Given the description of an element on the screen output the (x, y) to click on. 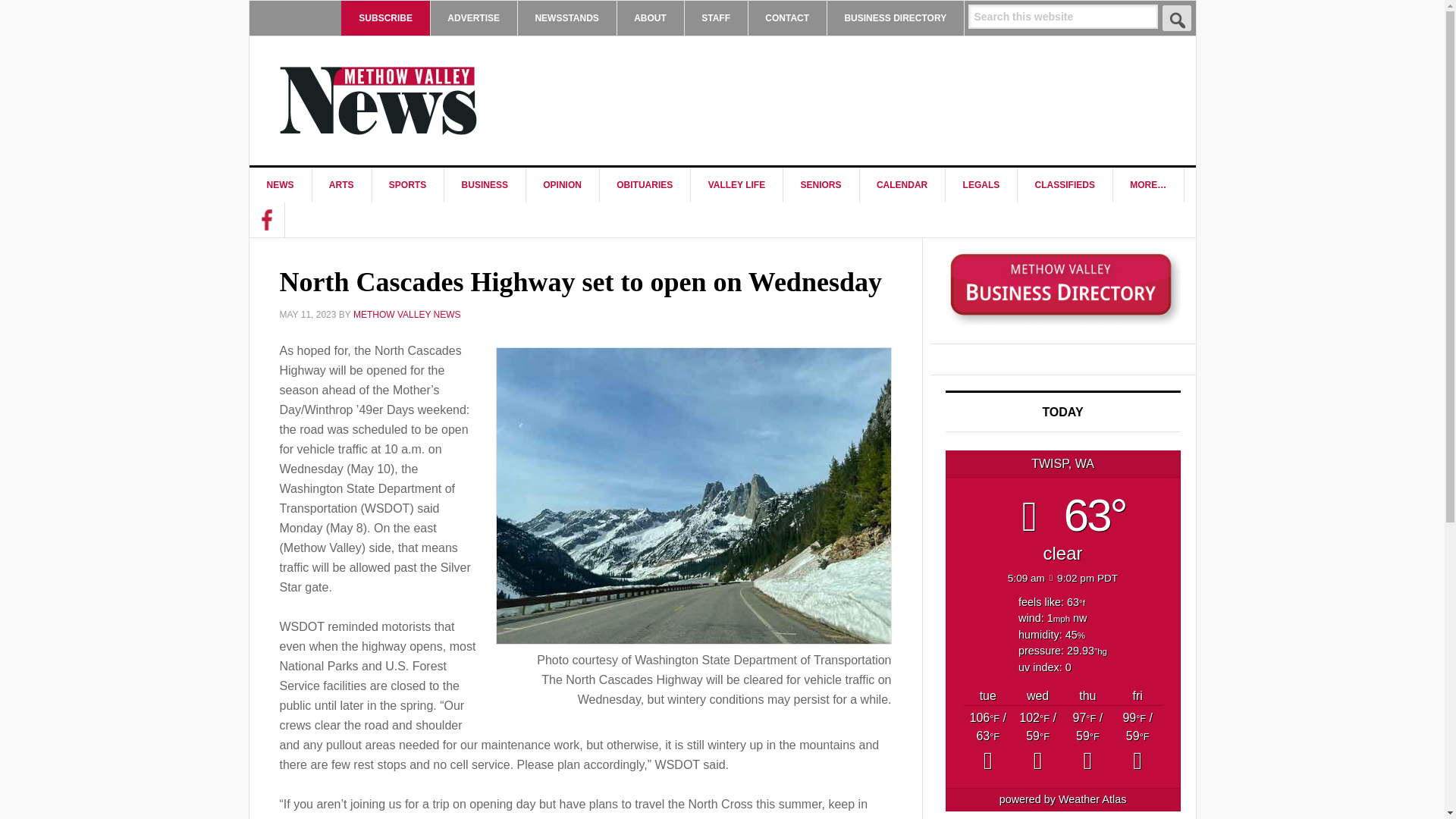
LEGALS (980, 184)
SENIORS (821, 184)
STAFF (716, 18)
BUSINESS DIRECTORY (895, 18)
OPINION (562, 184)
SUBSCRIBE (385, 18)
CONTACT (787, 18)
OBITUARIES (644, 184)
METHOW VALLEY NEWS (377, 100)
ABOUT (649, 18)
SPORTS (407, 184)
NEWS (279, 184)
CALENDAR (901, 184)
BUSINESS (484, 184)
